Given the description of an element on the screen output the (x, y) to click on. 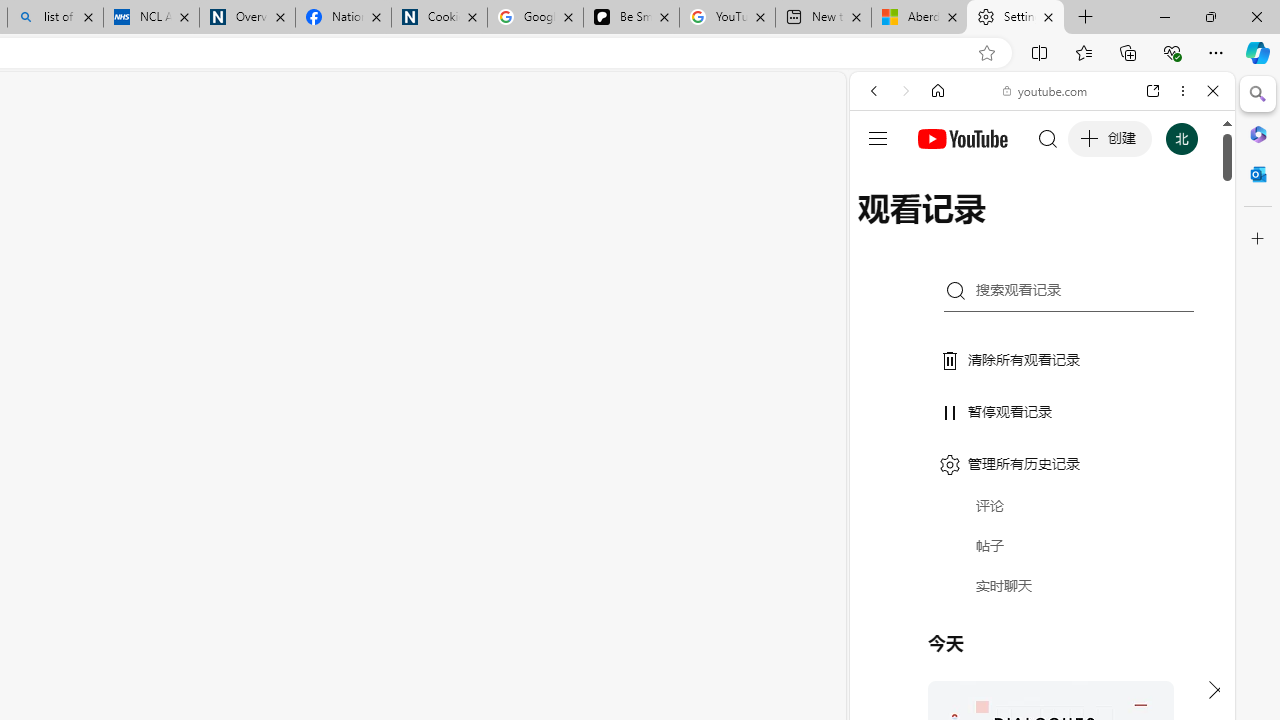
Show More Music (1164, 546)
Cookies (439, 17)
Search videos from youtube.com (1005, 657)
Music (1042, 543)
Trailer #2 [HD] (1042, 592)
